Given the description of an element on the screen output the (x, y) to click on. 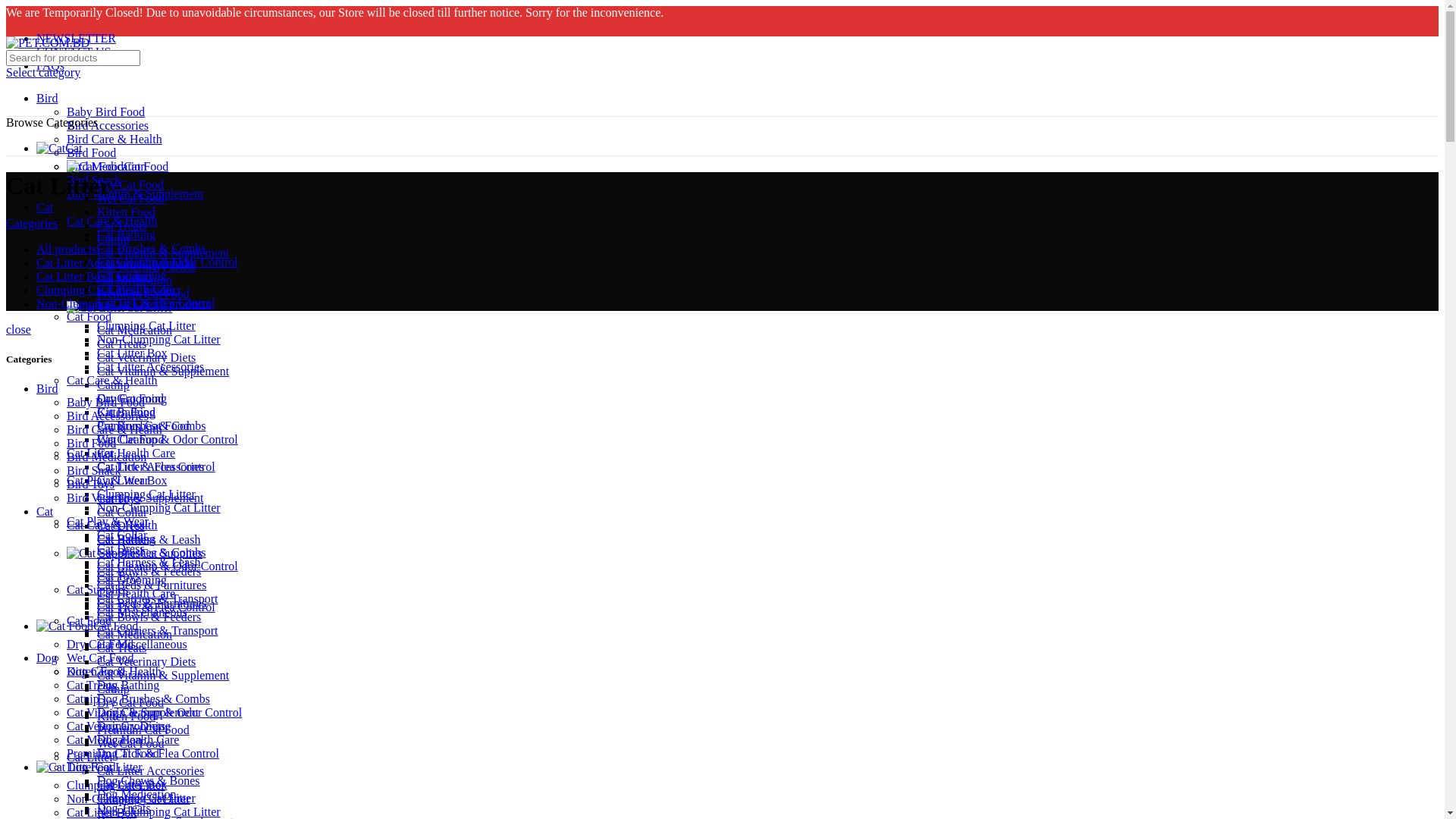
Cat Vitamin & Supplement Element type: text (163, 252)
Cat Cleanup & Odor Control Element type: text (167, 439)
Cat Litter Element type: text (119, 307)
Cat Element type: text (58, 147)
Cat Brushes & Combs Element type: text (151, 425)
Dog Treats Element type: text (123, 807)
Cat Veterinary Diets Element type: text (146, 357)
Cat Miscellaneous Element type: text (142, 643)
NEWSLETTER Element type: text (76, 37)
Cat Collar Element type: text (122, 511)
Bird Toys Element type: text (90, 483)
Cat Bowls & Feeders Element type: text (148, 616)
Cat Supplies Element type: text (134, 552)
Dry Cat Food Element type: text (130, 184)
Cat Toys Element type: text (118, 498)
Dry Cat Food Element type: text (99, 643)
Kitten Food Element type: text (126, 211)
Cat Beds & Furnitures Element type: text (151, 602)
Cat Brushes & Combs Element type: text (151, 552)
Baby Bird Food Element type: text (105, 111)
Select category Element type: text (43, 71)
Cat Medication Element type: text (103, 739)
Cat Treats Element type: text (121, 343)
Bird Vitamin & Supplement Element type: text (134, 193)
Cat Harness & Leash Element type: text (148, 539)
Cat Play & Wear Element type: text (107, 479)
Cat Miscellaneous Element type: text (142, 611)
Cat Litter Accessories Element type: text (150, 366)
Cat Medication Element type: text (134, 633)
Cat Litter Box Element type: text (131, 784)
Clumping Cat Litter1 product Element type: text (108, 289)
Clumping Cat Litter Element type: text (146, 325)
Cat Bathing Element type: text (126, 538)
Cat Veterinary Diets Element type: text (115, 725)
Cat Care & Health Element type: text (111, 220)
Premium Cat Food Element type: text (143, 293)
Cat Medication Element type: text (134, 329)
Cat Tick & Flea Control Element type: text (156, 302)
Cat Health Care Element type: text (136, 592)
Dog Bathing Element type: text (128, 684)
Cat Health Care Element type: text (136, 452)
close Element type: text (18, 329)
Cat Veterinary Diets Element type: text (146, 661)
Cat Bathing Element type: text (126, 234)
All products Element type: text (66, 248)
Bird Element type: text (46, 97)
Wet Cat Food Element type: text (130, 197)
Kitten Food Element type: text (126, 715)
Categories Element type: text (31, 222)
Cat Litter Element type: text (89, 452)
Cat Grooming Element type: text (131, 579)
Bird Care & Health Element type: text (114, 429)
Cat Litter Accessories Element type: text (150, 770)
Cat Cleanup & Odor Control Element type: text (167, 565)
Dog Health Care Element type: text (137, 739)
Cat Care & Health Element type: text (111, 379)
Cat Medication Element type: text (134, 279)
Cat Supplies Element type: text (97, 589)
Catnip Element type: text (113, 688)
Cat Harness & Leash Element type: text (148, 561)
Cat Grooming Element type: text (131, 275)
Bird Accessories Element type: text (107, 415)
Dog Element type: text (46, 657)
Cat Tick & Flea Control Element type: text (156, 466)
FAQs Element type: text (50, 65)
Cat Carriers & Transport Element type: text (157, 630)
Cat Litter Box Element type: text (131, 479)
Cat Veterinary Diets Element type: text (146, 266)
Dog Food Element type: text (90, 766)
Cat Care & Health Element type: text (111, 524)
Catnip Element type: text (113, 238)
Non-Clumping Cat Litter Element type: text (158, 811)
Cat Grooming Element type: text (131, 398)
Bird Medication Element type: text (106, 166)
Cat Litter Element type: text (89, 756)
Cat Dress Element type: text (120, 525)
Cat Food Element type: text (88, 316)
Bird Care & Health Element type: text (114, 138)
Non-Clumping Cat Litter0 products Element type: text (123, 303)
Cat Litter Box1 product Element type: text (94, 275)
Kitten Food Element type: text (126, 411)
Cat Treats Element type: text (121, 647)
Clumping Cat Litter Element type: text (115, 784)
Bird Medication Element type: text (106, 456)
Search for products Element type: hover (73, 57)
Cat Food Element type: text (117, 166)
Bird Food Element type: text (91, 442)
Non-Clumping Cat Litter Element type: text (128, 798)
Dry Cat Food Element type: text (130, 398)
Kitten Food Element type: text (95, 671)
Cat Treats Element type: text (91, 684)
Dog Care & Health Element type: text (113, 671)
Premium Cat Food Element type: text (112, 752)
Premium Cat Food Element type: text (143, 425)
Bird Vitamin & Supplement Element type: text (134, 497)
Cat Tick & Flea Control Element type: text (156, 606)
Dog Chews & Bones Element type: text (148, 780)
Cat Vitamin & Supplement Element type: text (163, 370)
Clumping Cat Litter Element type: text (146, 493)
Cat Cleanup & Odor Control Element type: text (167, 261)
Cat Food Element type: text (88, 620)
Cat Toys Element type: text (118, 575)
Bird Snack Element type: text (93, 470)
Clumping Cat Litter Element type: text (146, 797)
Cat Litter Accessories2 products Element type: text (115, 262)
Cat Food Element type: text (87, 625)
Catnip Element type: text (113, 384)
Catnip Element type: text (82, 698)
Cat Dress Element type: text (120, 548)
Baby Bird Food Element type: text (105, 401)
Dog Brushes & Combs Element type: text (153, 698)
Cat Treats Element type: text (121, 225)
Cat Litter Box Element type: text (131, 352)
Wet Cat Food Element type: text (99, 657)
Dog Cleanup & Odor Control Element type: text (169, 712)
Cat Vitamin & Supplement Element type: text (132, 712)
Wet Cat Food Element type: text (130, 439)
Cat Beds & Furnitures Element type: text (151, 584)
Cat Bowls & Feeders Element type: text (148, 570)
Premium Cat Food Element type: text (143, 729)
Non-Clumping Cat Litter Element type: text (158, 338)
Cat Element type: text (44, 206)
Wet Cat Food Element type: text (130, 743)
Dog Grooming Element type: text (133, 725)
CONTACT US Element type: text (73, 51)
Cat Litter Element type: text (89, 766)
Cat Carriers & Transport Element type: text (157, 598)
Cat Vitamin & Supplement Element type: text (163, 674)
Cat Health Care Element type: text (136, 288)
Bird Accessories Element type: text (107, 125)
Cat Brushes & Combs Element type: text (151, 247)
Dog Medication Element type: text (136, 793)
Bird Element type: text (46, 388)
Dry Cat Food Element type: text (130, 702)
Bird Snack Element type: text (93, 179)
Cat Element type: text (44, 511)
Cat Play & Wear Element type: text (107, 520)
Cat Collar Element type: text (122, 534)
Dog Tick & Flea Control Element type: text (158, 752)
Bird Food Element type: text (91, 152)
Cat Litter Accessories Element type: text (150, 466)
Non-Clumping Cat Litter Element type: text (158, 507)
